Given the description of an element on the screen output the (x, y) to click on. 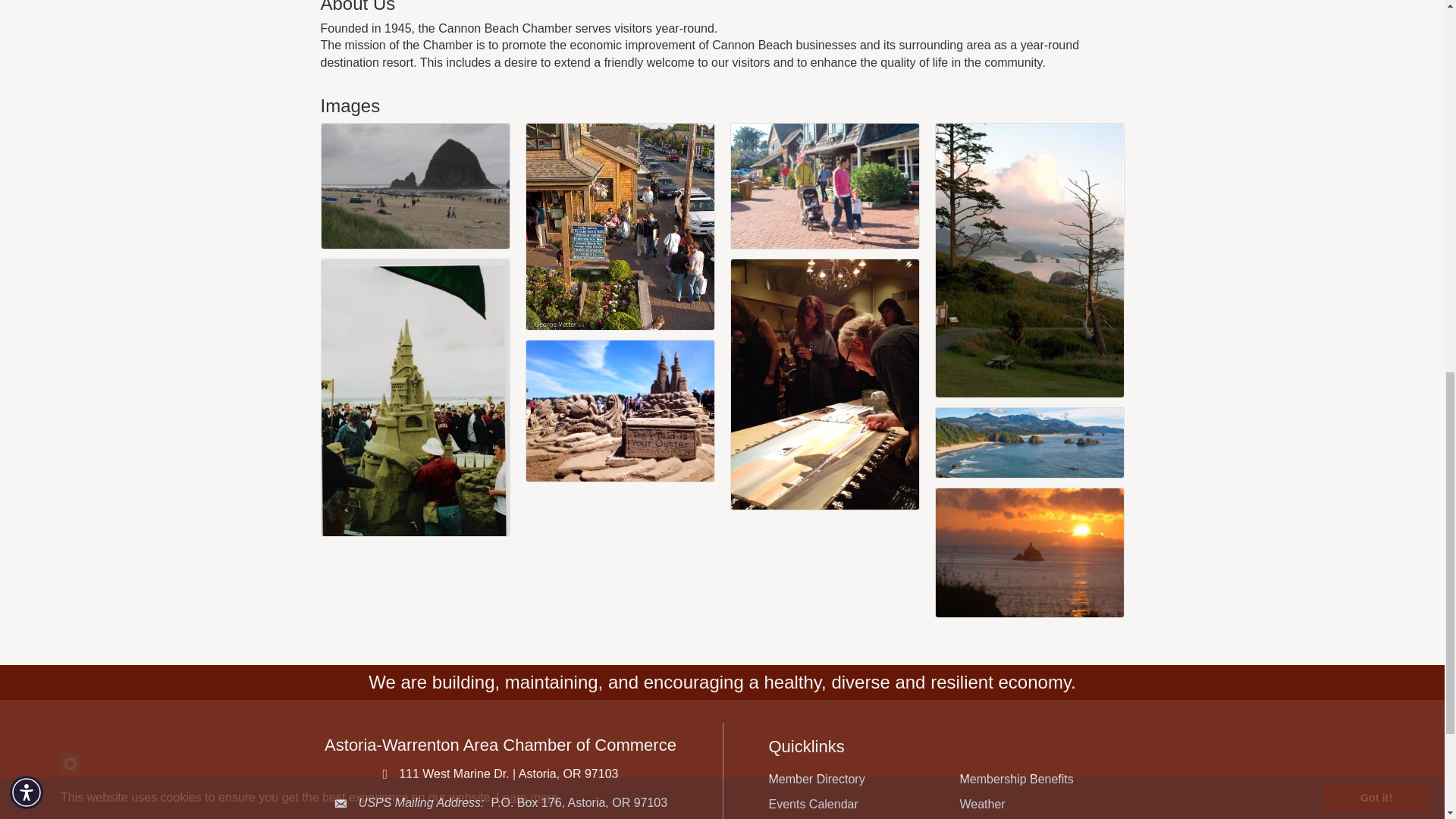
Gallery Image cb5.jpg (619, 410)
Gallery Image downtown.jpg2.jpg (824, 185)
Haystack Rock (415, 185)
Gallery Image downtown.jpg (619, 226)
